Given the description of an element on the screen output the (x, y) to click on. 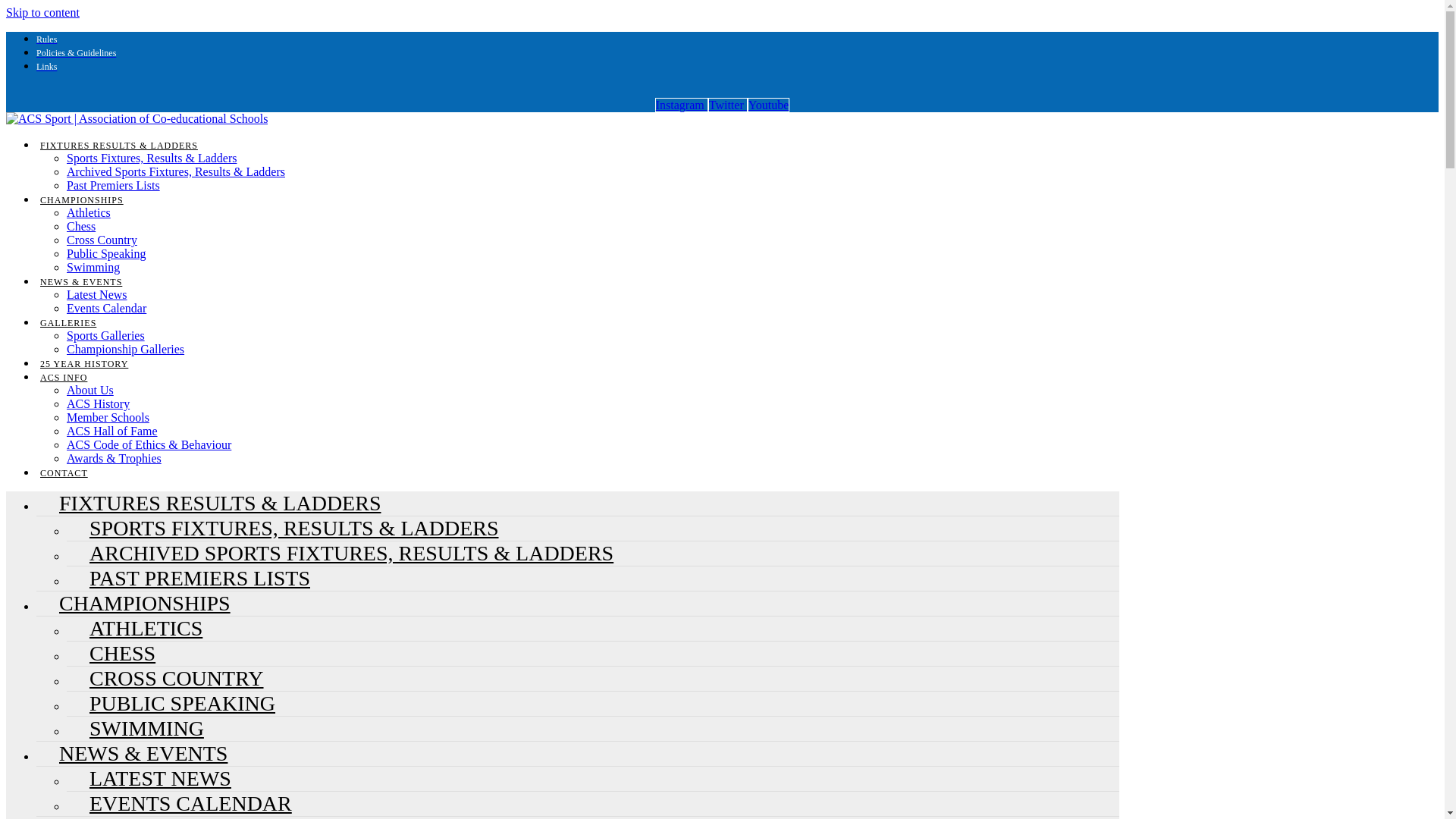
ACS INFO Element type: text (63, 377)
About Us Element type: text (89, 389)
CROSS COUNTRY Element type: text (164, 677)
ACS Code of Ethics & Behaviour Element type: text (148, 444)
Past Premiers Lists Element type: text (113, 184)
Chess Element type: text (80, 225)
ACS Hall of Fame Element type: text (111, 430)
PUBLIC SPEAKING Element type: text (170, 702)
Latest News Element type: text (96, 294)
CHESS Element type: text (110, 652)
SPORTS FIXTURES, RESULTS & LADDERS Element type: text (282, 527)
Championship Galleries Element type: text (125, 348)
LATEST NEWS Element type: text (148, 777)
Archived Sports Fixtures, Results & Ladders Element type: text (175, 171)
Twitter Element type: text (727, 104)
Sports Galleries Element type: text (105, 335)
ATHLETICS Element type: text (134, 627)
Skip to content Element type: text (42, 12)
Cross Country Element type: text (101, 239)
ARCHIVED SPORTS FIXTURES, RESULTS & LADDERS Element type: text (339, 552)
Policies & Guidelines Element type: text (76, 52)
CHAMPIONSHIPS Element type: text (133, 602)
25 YEAR HISTORY Element type: text (83, 363)
CHAMPIONSHIPS Element type: text (81, 200)
NEWS & EVENTS Element type: text (80, 282)
Athletics Element type: text (88, 212)
SWIMMING Element type: text (134, 727)
Sports Fixtures, Results & Ladders Element type: text (151, 157)
Rules Element type: text (46, 39)
CONTACT Element type: text (63, 473)
ACS History Element type: text (97, 403)
NEWS & EVENTS Element type: text (131, 752)
FIXTURES RESULTS & LADDERS Element type: text (118, 145)
FIXTURES RESULTS & LADDERS Element type: text (208, 502)
Member Schools Element type: text (107, 417)
Events Calendar Element type: text (106, 307)
Awards & Trophies Element type: text (113, 457)
Public Speaking Element type: text (105, 253)
Links Element type: text (46, 66)
Swimming Element type: text (92, 266)
Youtube Element type: text (768, 104)
Instagram Element type: text (681, 104)
PAST PREMIERS LISTS Element type: text (188, 577)
GALLERIES Element type: text (68, 322)
